Given the description of an element on the screen output the (x, y) to click on. 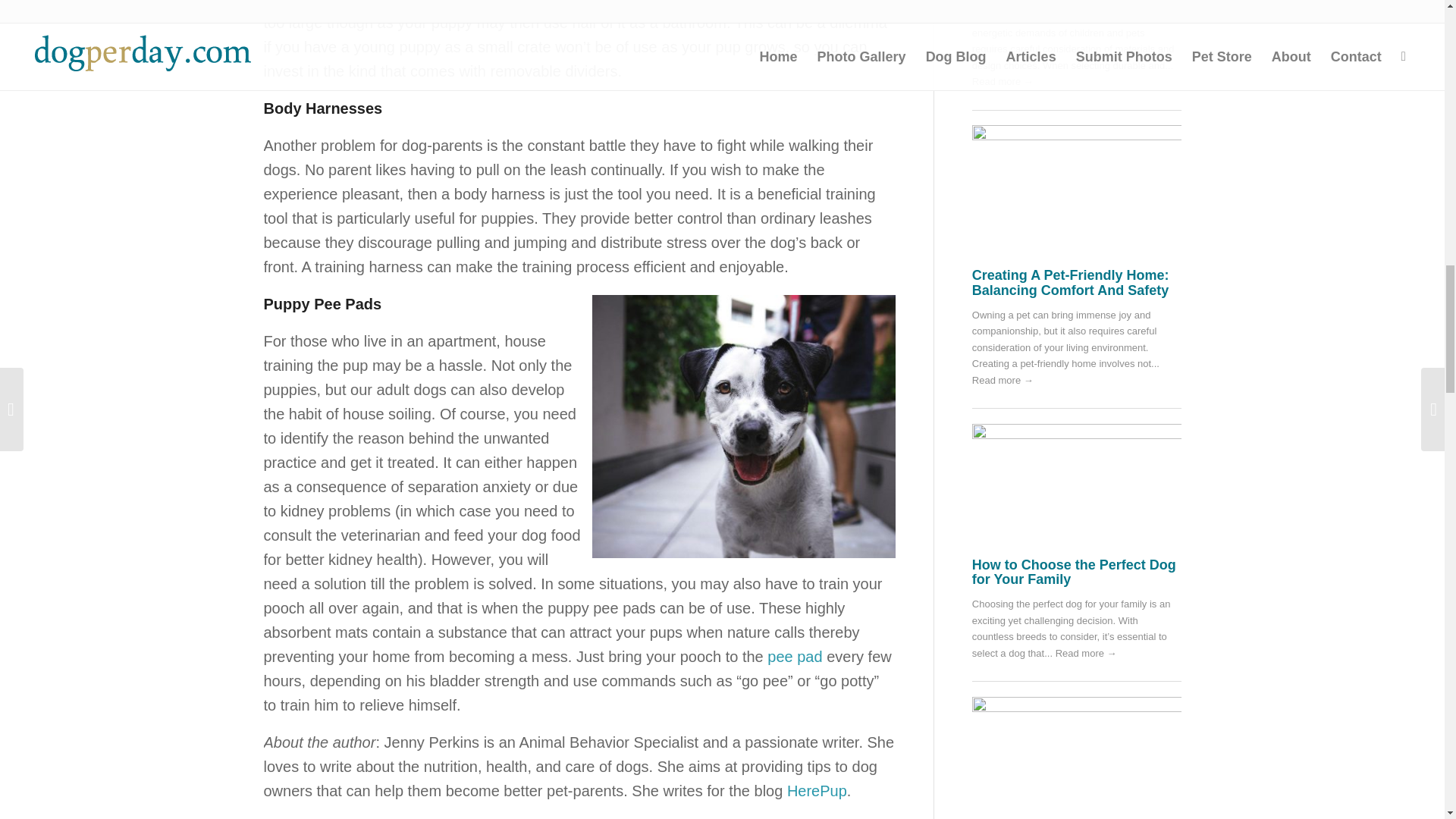
pee pad (794, 656)
HerePup (817, 790)
